Given the description of an element on the screen output the (x, y) to click on. 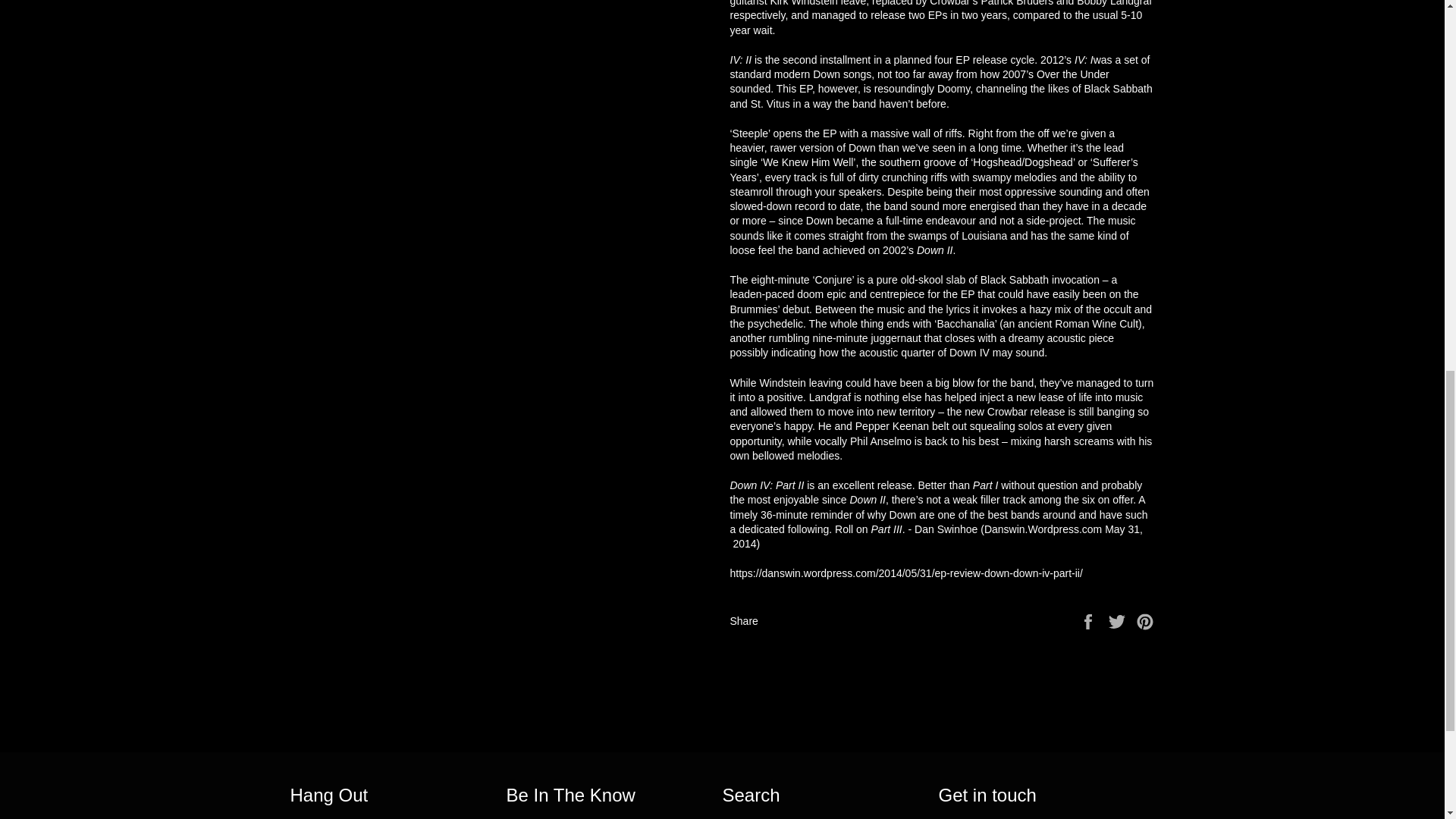
Tweet on Twitter (1118, 620)
Share on Facebook (1089, 620)
Pin on Pinterest (1144, 620)
